Given the description of an element on the screen output the (x, y) to click on. 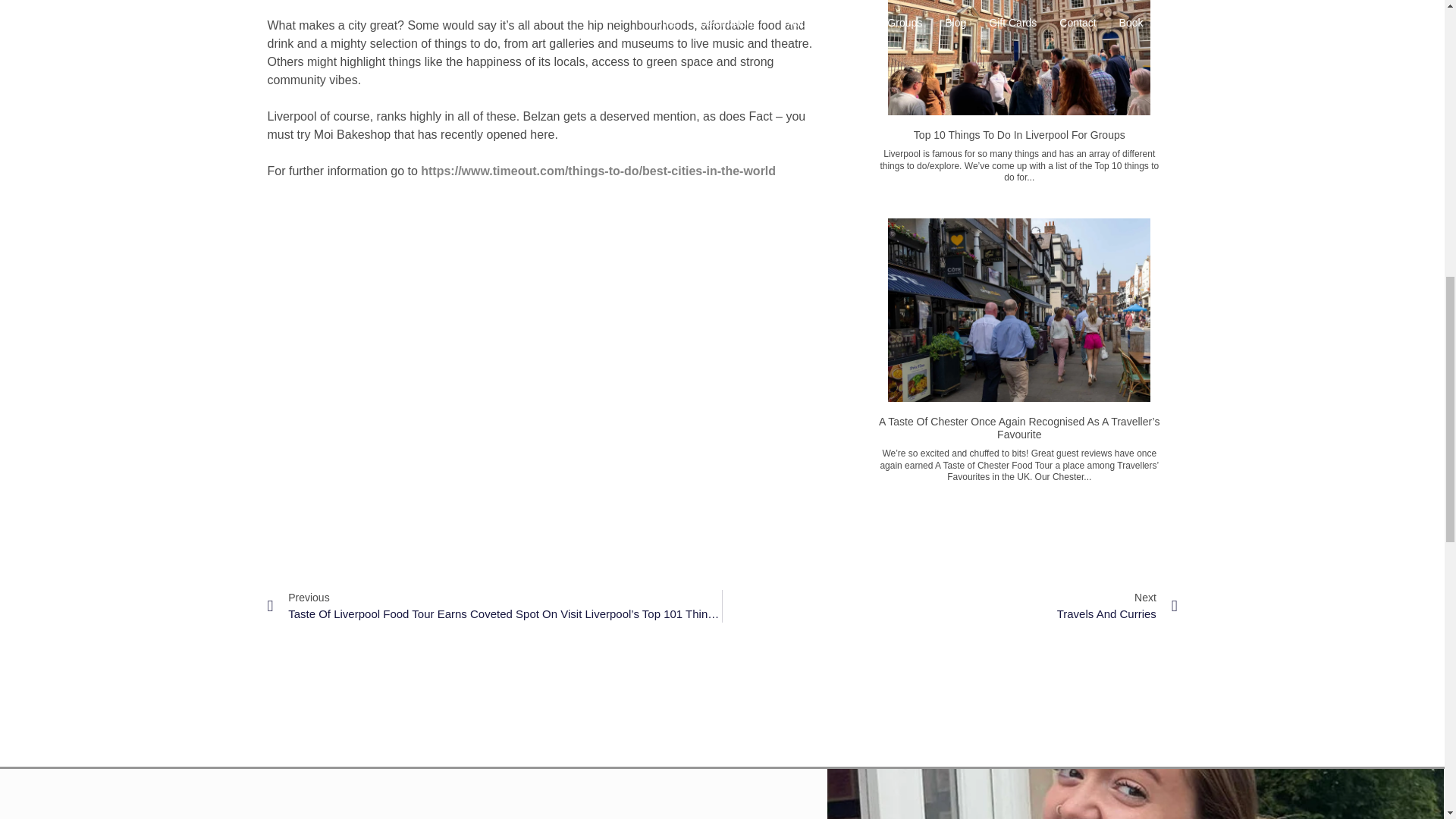
Top 10 Things To Do In Liverpool For Groups (949, 606)
